Given the description of an element on the screen output the (x, y) to click on. 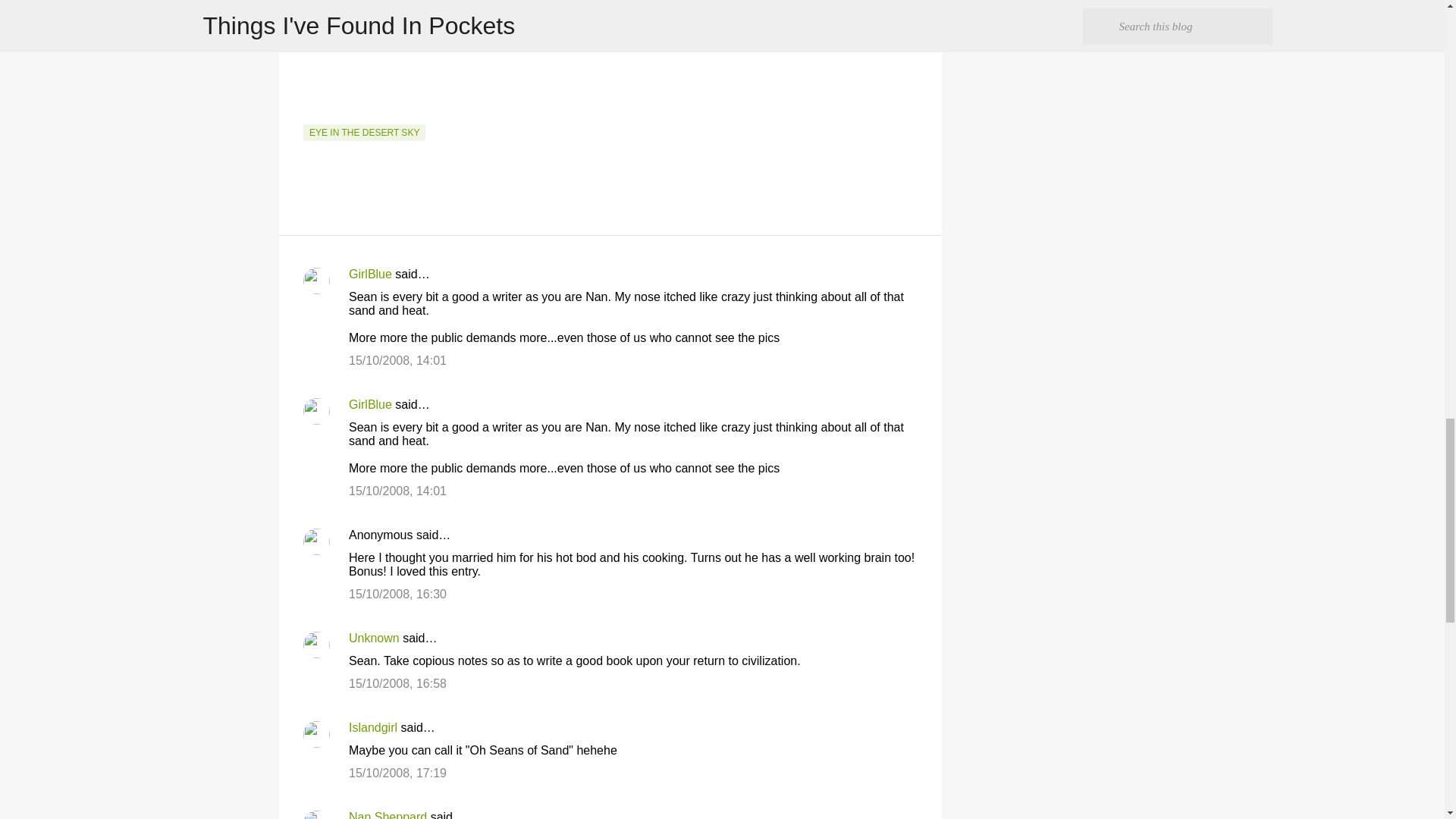
EYE IN THE DESERT SKY (363, 132)
GirlBlue (370, 273)
GirlBlue (370, 404)
Nan Sheppard (387, 814)
comment permalink (397, 359)
Islandgirl (373, 727)
Email Post (311, 114)
Unknown (373, 637)
